Given the description of an element on the screen output the (x, y) to click on. 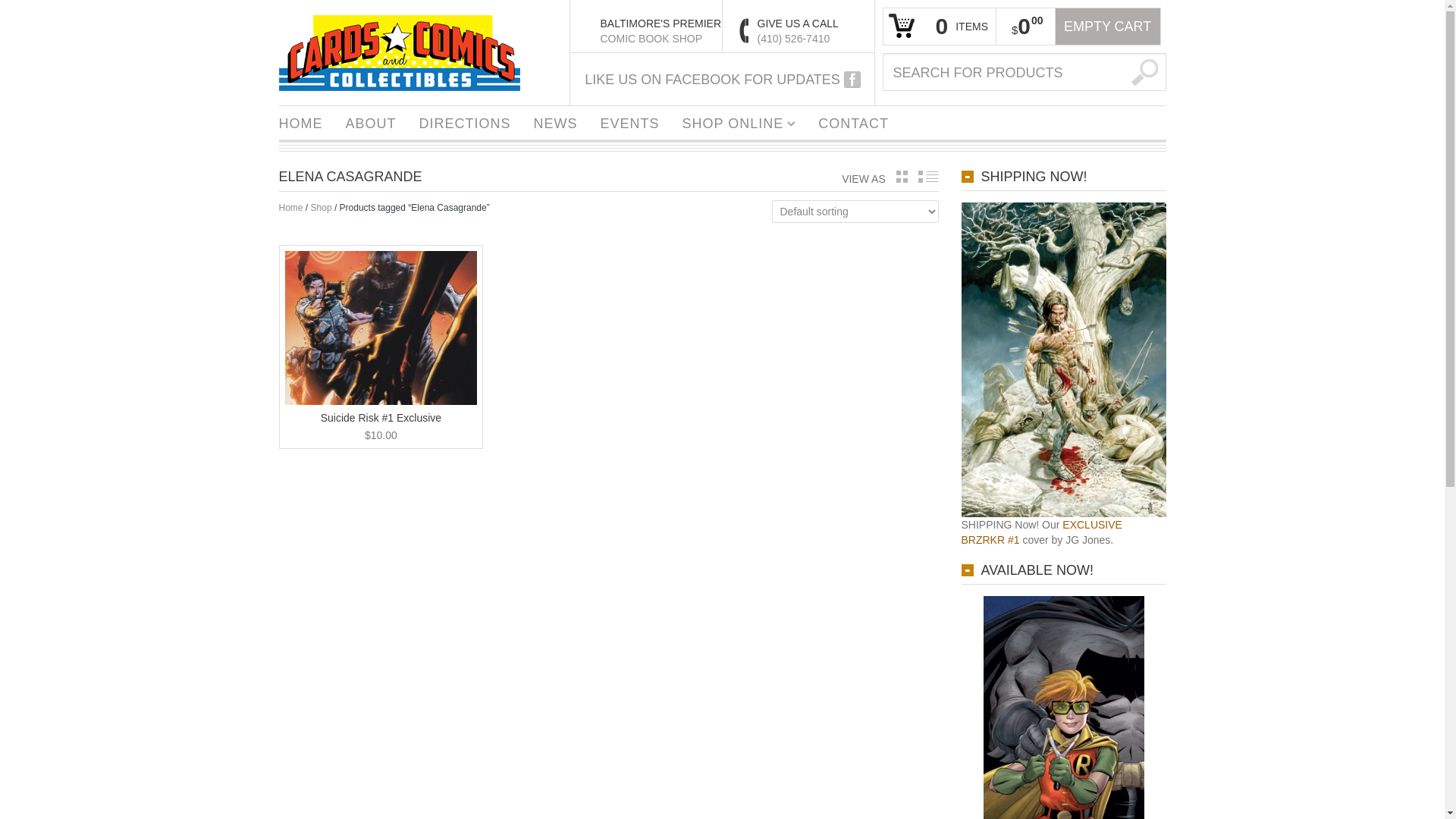
EMPTY CART (1107, 26)
HOME (299, 121)
ABOUT (370, 121)
DIRECTIONS (464, 121)
NEWS (555, 121)
LIST (927, 176)
facebook (852, 79)
Switch to list view (927, 176)
Shop (321, 207)
CONTACT (852, 121)
EVENTS (630, 121)
GRID (901, 176)
Switch to grid view (901, 176)
Home (290, 207)
